Given the description of an element on the screen output the (x, y) to click on. 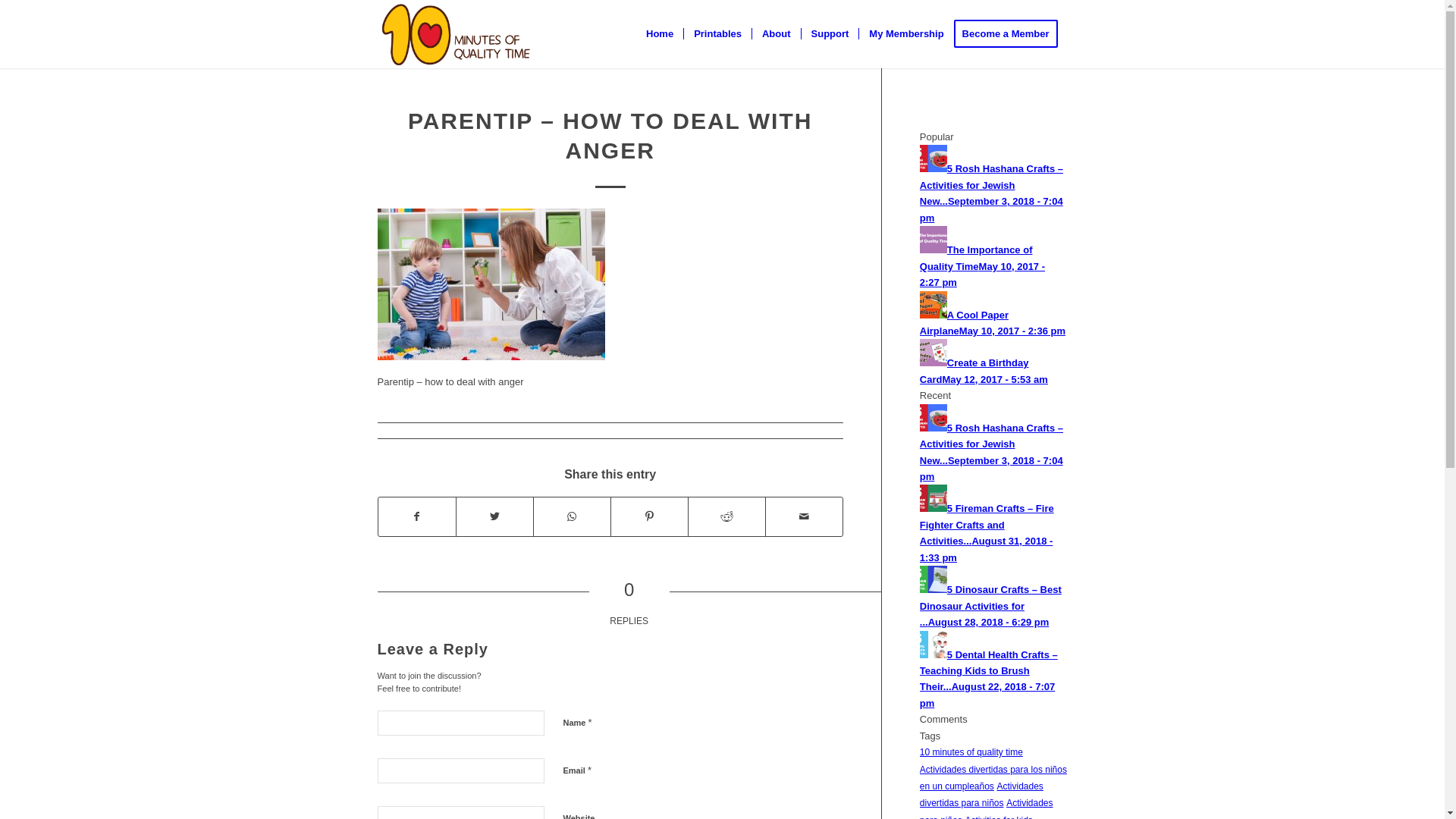
Support Element type: text (829, 34)
About Element type: text (775, 34)
My Membership Element type: text (905, 34)
10 minutes of quality time Element type: text (970, 751)
Logo Element type: hover (455, 34)
Home Element type: text (659, 34)
Printables Element type: text (717, 34)
Become a Member Element type: text (1010, 34)
The Importance of Quality TimeMay 10, 2017 - 2:27 pm Element type: text (981, 266)
Create a Birthday CardMay 12, 2017 - 5:53 am Element type: text (983, 370)
A Cool Paper AirplaneMay 10, 2017 - 2:36 pm Element type: text (992, 322)
